Given the description of an element on the screen output the (x, y) to click on. 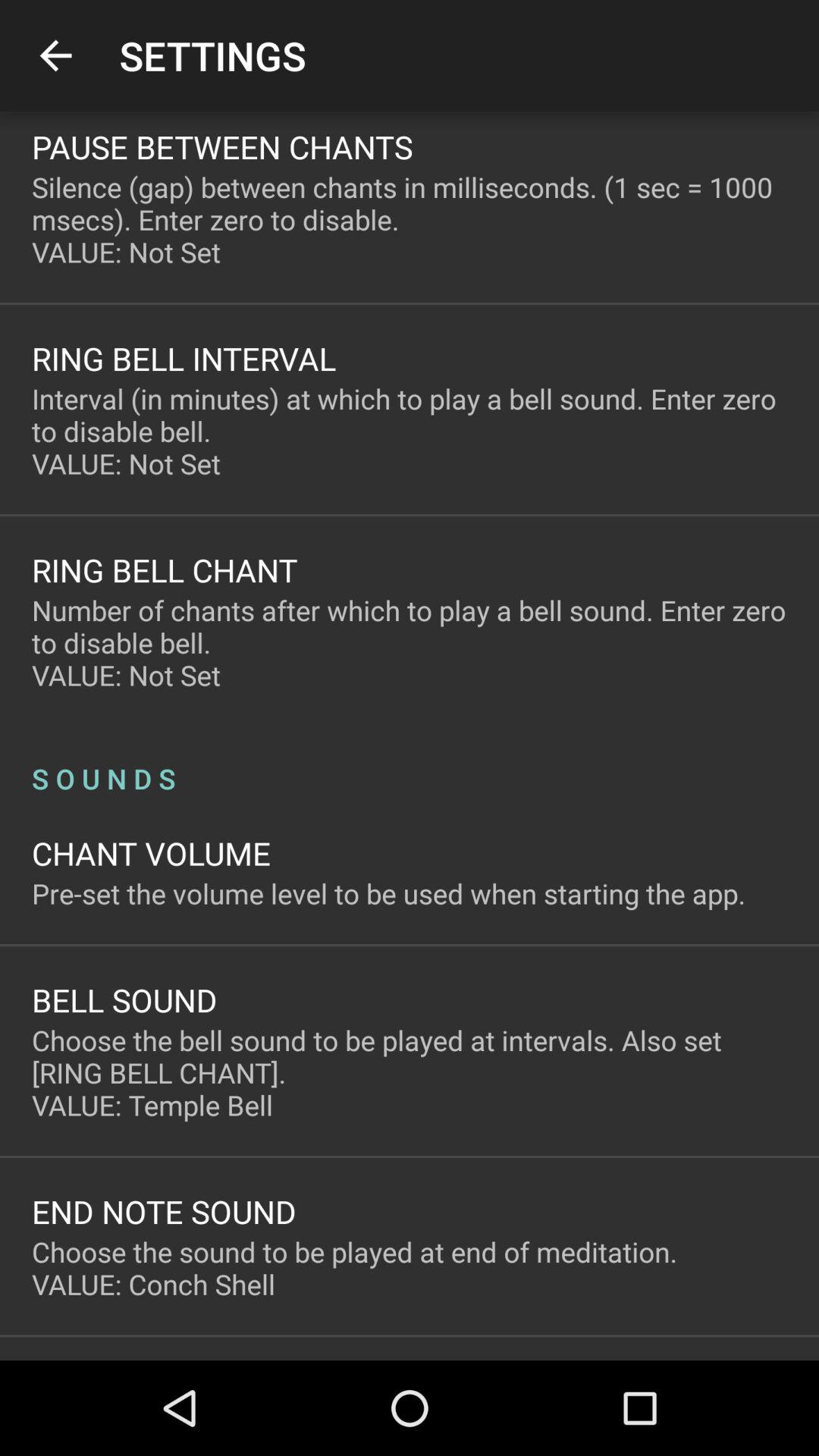
jump to the silence gap between item (409, 219)
